Given the description of an element on the screen output the (x, y) to click on. 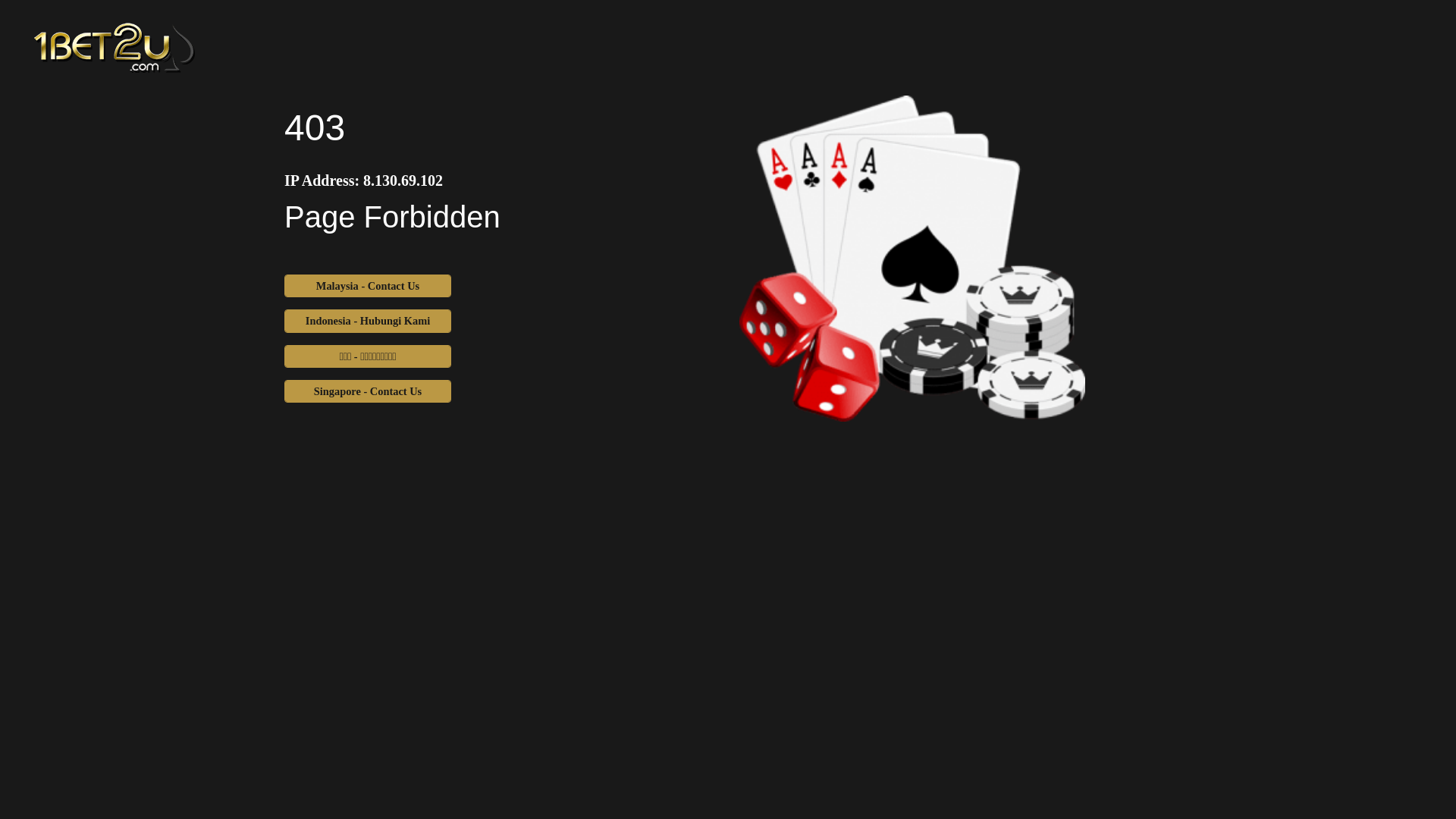
Malaysia - Contact Us Element type: text (367, 285)
Singapore - Contact Us Element type: text (367, 390)
Indonesia - Hubungi Kami Element type: text (367, 320)
